Given the description of an element on the screen output the (x, y) to click on. 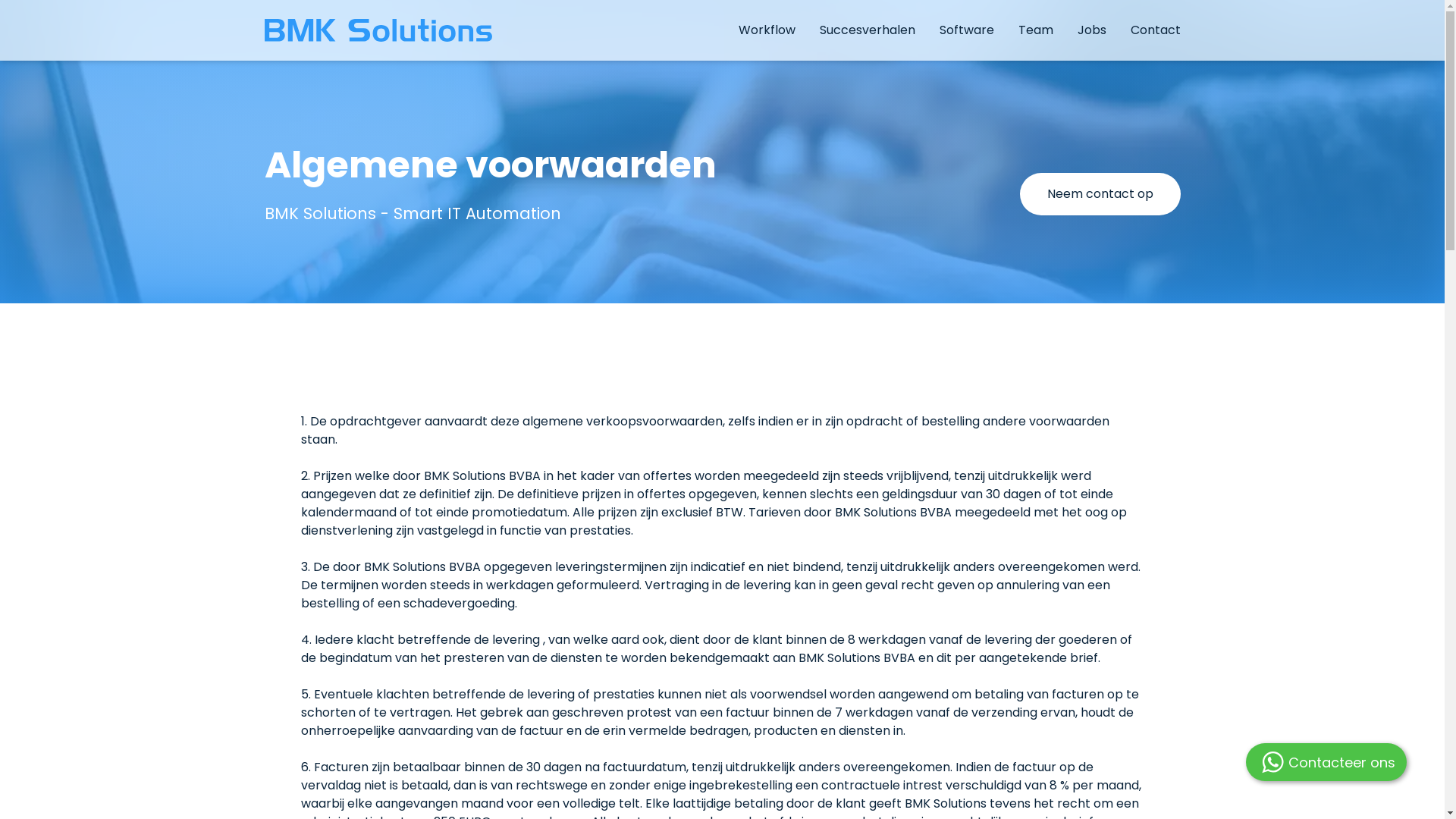
Software Element type: text (965, 30)
Jobs Element type: text (1090, 30)
Contact Element type: text (1154, 30)
Workflow Element type: text (766, 30)
Neem contact op Element type: text (1099, 193)
Succesverhalen Element type: text (866, 30)
Team Element type: text (1034, 30)
